Given the description of an element on the screen output the (x, y) to click on. 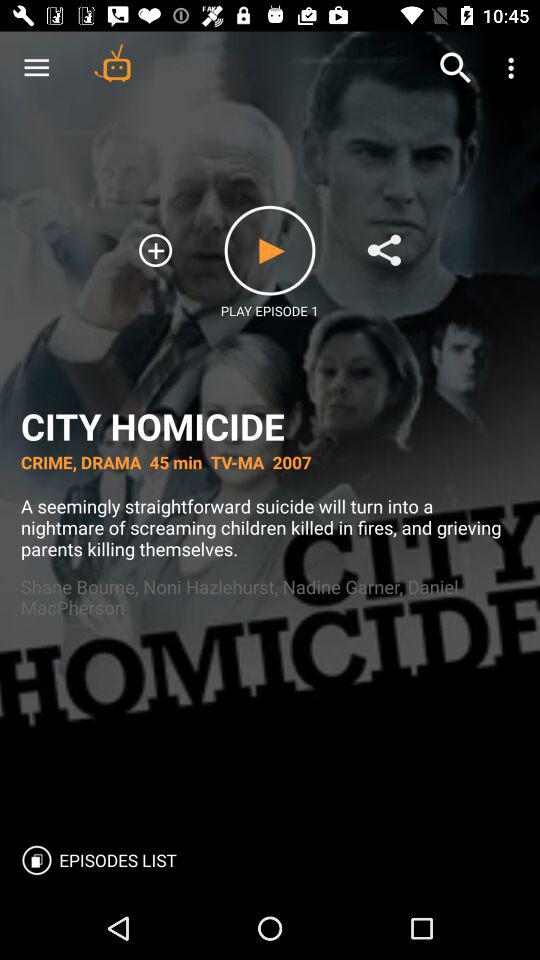
add to list (383, 250)
